Given the description of an element on the screen output the (x, y) to click on. 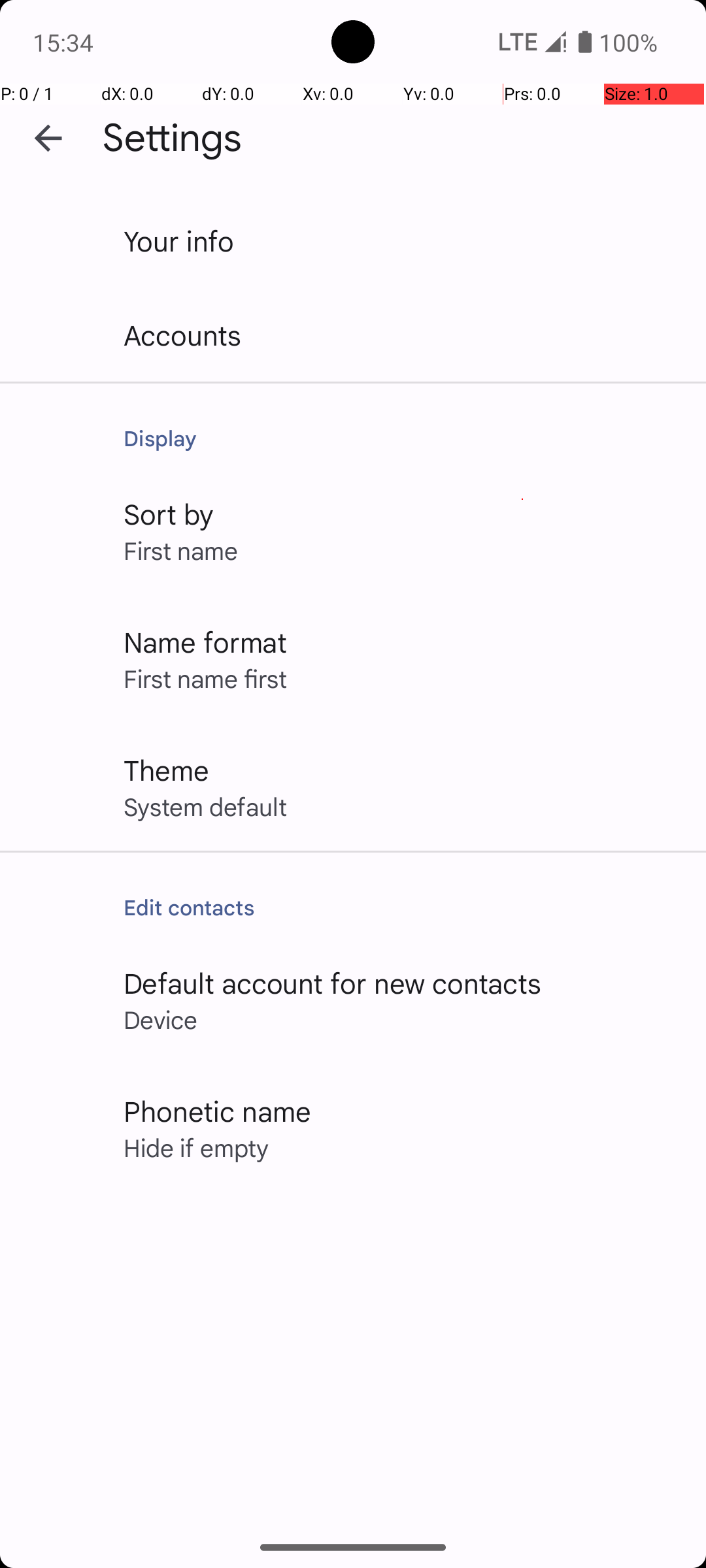
Your info Element type: android.widget.TextView (178, 240)
Accounts Element type: android.widget.TextView (182, 334)
Display Element type: android.widget.TextView (400, 437)
Name format Element type: android.widget.TextView (205, 641)
First name first Element type: android.widget.TextView (204, 678)
Edit contacts Element type: android.widget.TextView (400, 906)
Default account for new contacts Element type: android.widget.TextView (332, 982)
Phonetic name Element type: android.widget.TextView (217, 1110)
Hide if empty Element type: android.widget.TextView (196, 1147)
